Given the description of an element on the screen output the (x, y) to click on. 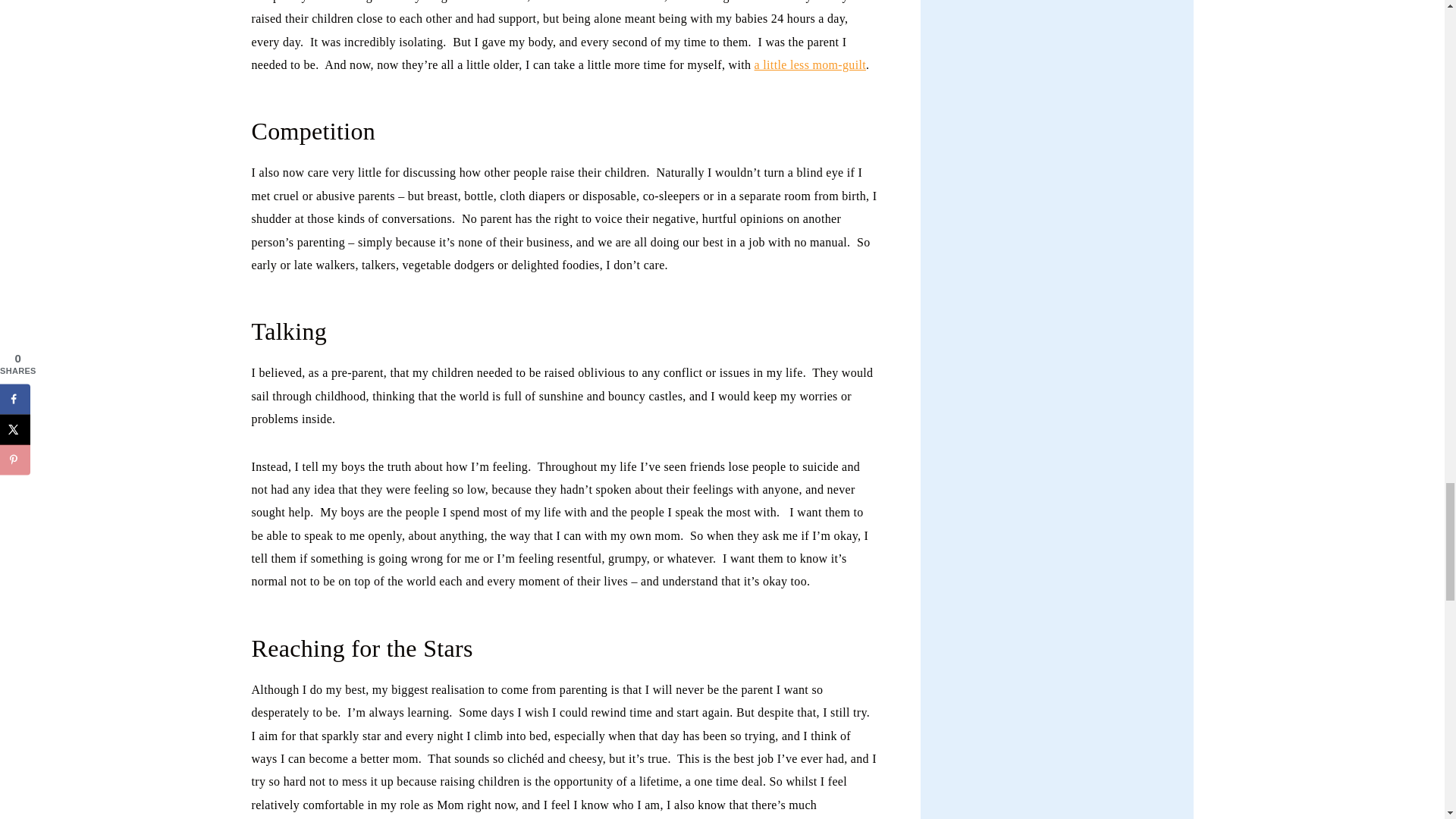
a little less mom-guilt (810, 64)
